Given the description of an element on the screen output the (x, y) to click on. 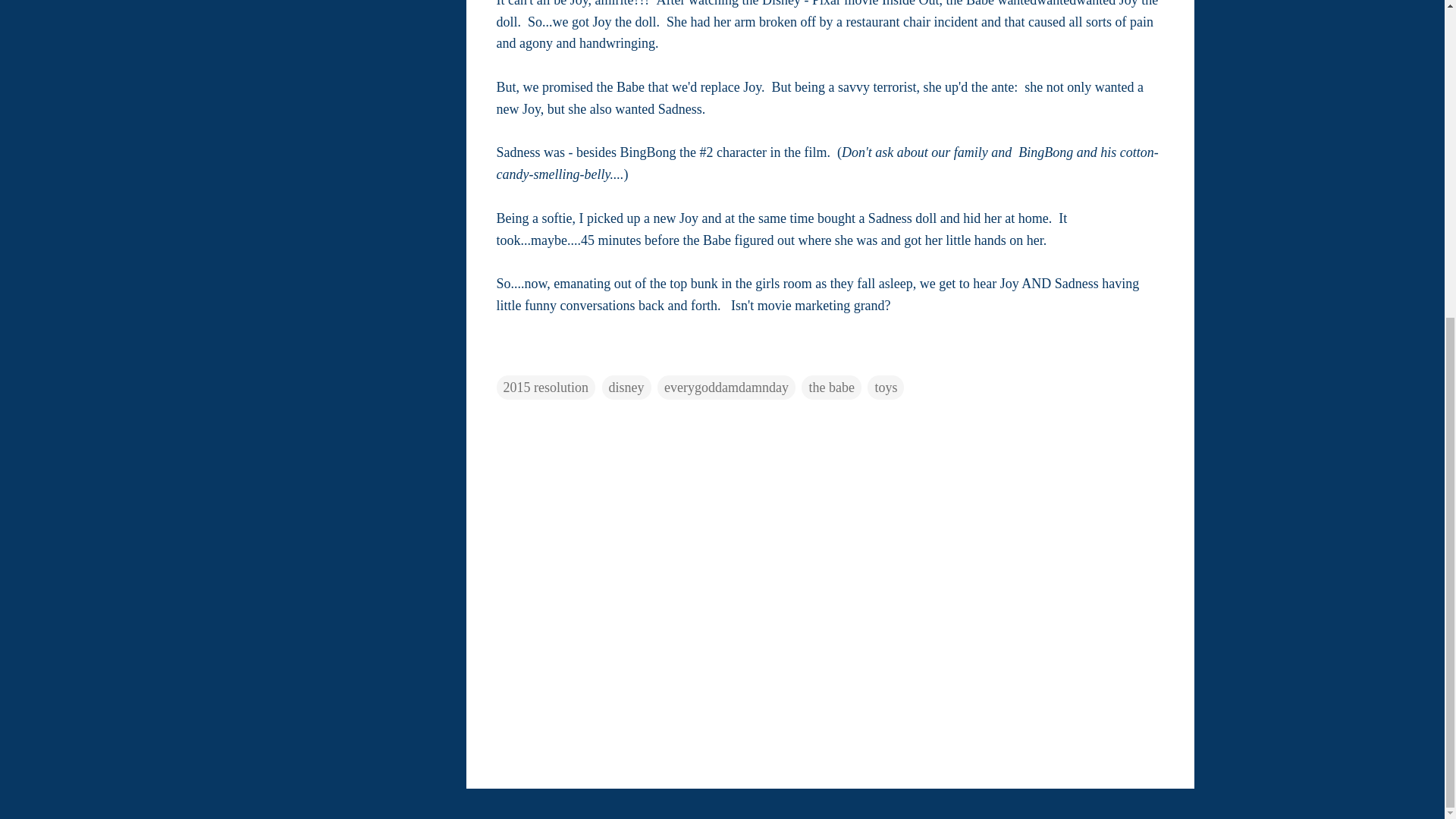
the babe (831, 387)
toys (885, 387)
2015 resolution (545, 387)
everygoddamdamnday (726, 387)
disney (626, 387)
